Given the description of an element on the screen output the (x, y) to click on. 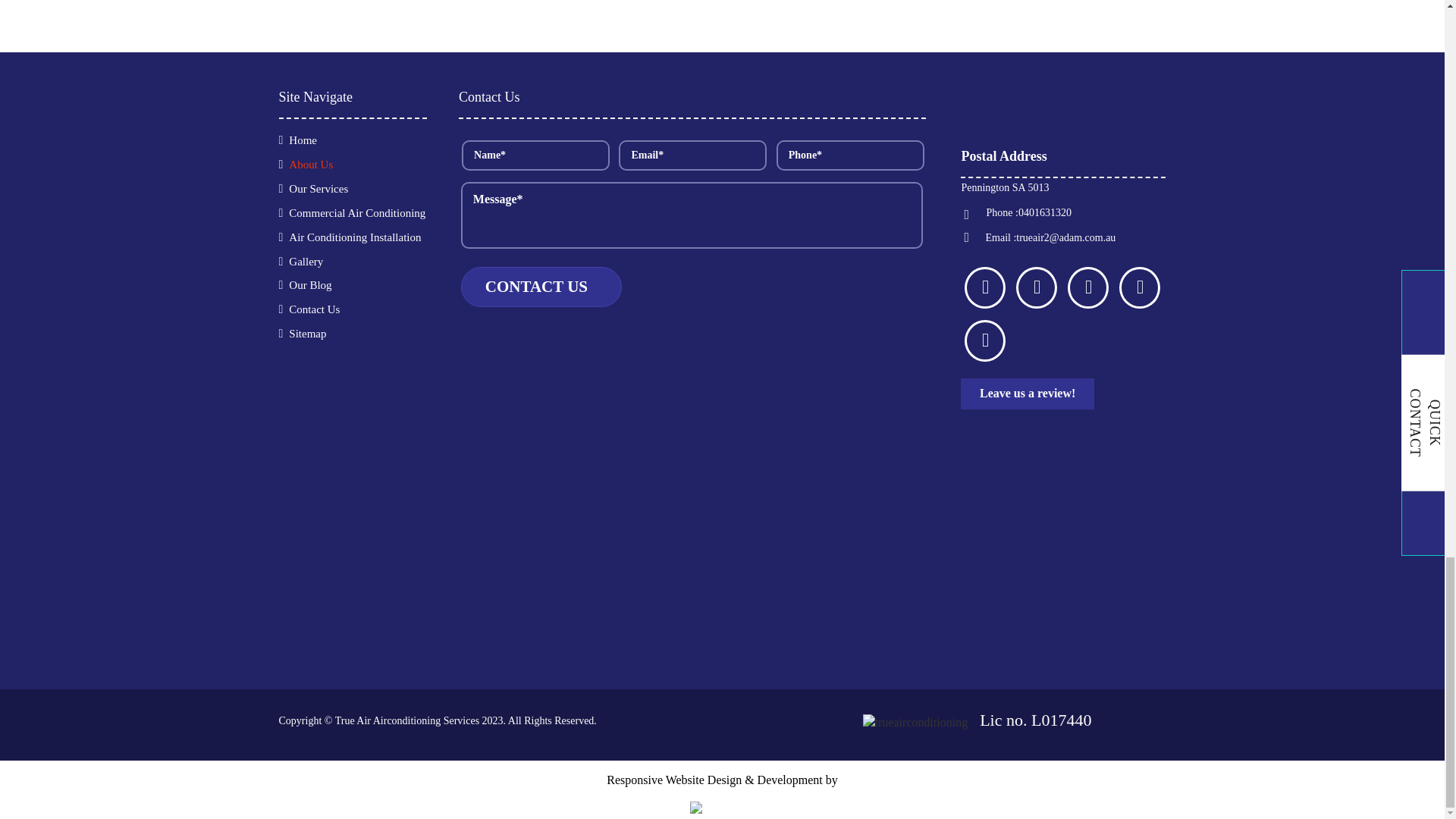
0401631320 (1044, 212)
About Us (307, 164)
Commercial Air Conditioning (353, 213)
Home (299, 140)
Our Blog (306, 285)
Gallery (302, 261)
Contact us (541, 286)
Contact Us (310, 309)
Contact us (541, 286)
Our Services (314, 188)
